Given the description of an element on the screen output the (x, y) to click on. 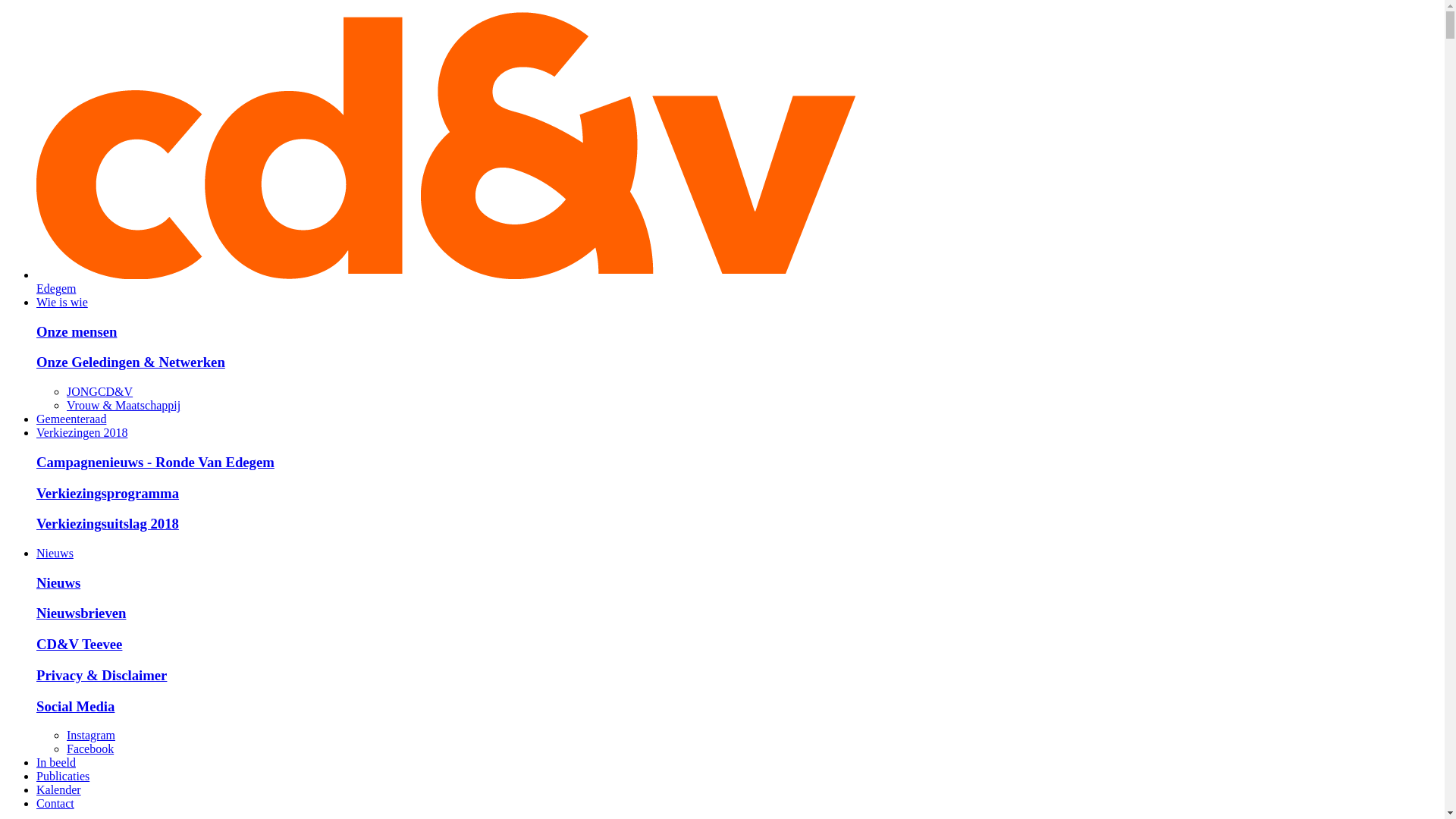
Facebook Element type: text (89, 748)
JONGCD&V Element type: text (99, 391)
Nieuws Element type: text (54, 552)
Verkiezingsprogramma Element type: text (107, 493)
Campagnenieuws - Ronde Van Edegem Element type: text (155, 462)
In beeld Element type: text (55, 762)
Privacy & Disclaimer Element type: text (101, 675)
Publicaties Element type: text (62, 775)
Gemeenteraad Element type: text (71, 418)
Vrouw & Maatschappij Element type: text (123, 404)
Wie is wie Element type: text (61, 301)
CD&V Teevee Element type: text (79, 644)
Nieuws Element type: text (58, 582)
Nieuwsbrieven Element type: text (80, 613)
Social Media Element type: text (75, 706)
Edegem Element type: text (737, 281)
Instagram Element type: text (90, 734)
Onze mensen Element type: text (76, 331)
Verkiezingen 2018 Element type: text (81, 432)
Kalender Element type: text (58, 789)
Contact Element type: text (55, 803)
Onze Geledingen & Netwerken Element type: text (130, 362)
Verkiezingsuitslag 2018 Element type: text (107, 523)
